Given the description of an element on the screen output the (x, y) to click on. 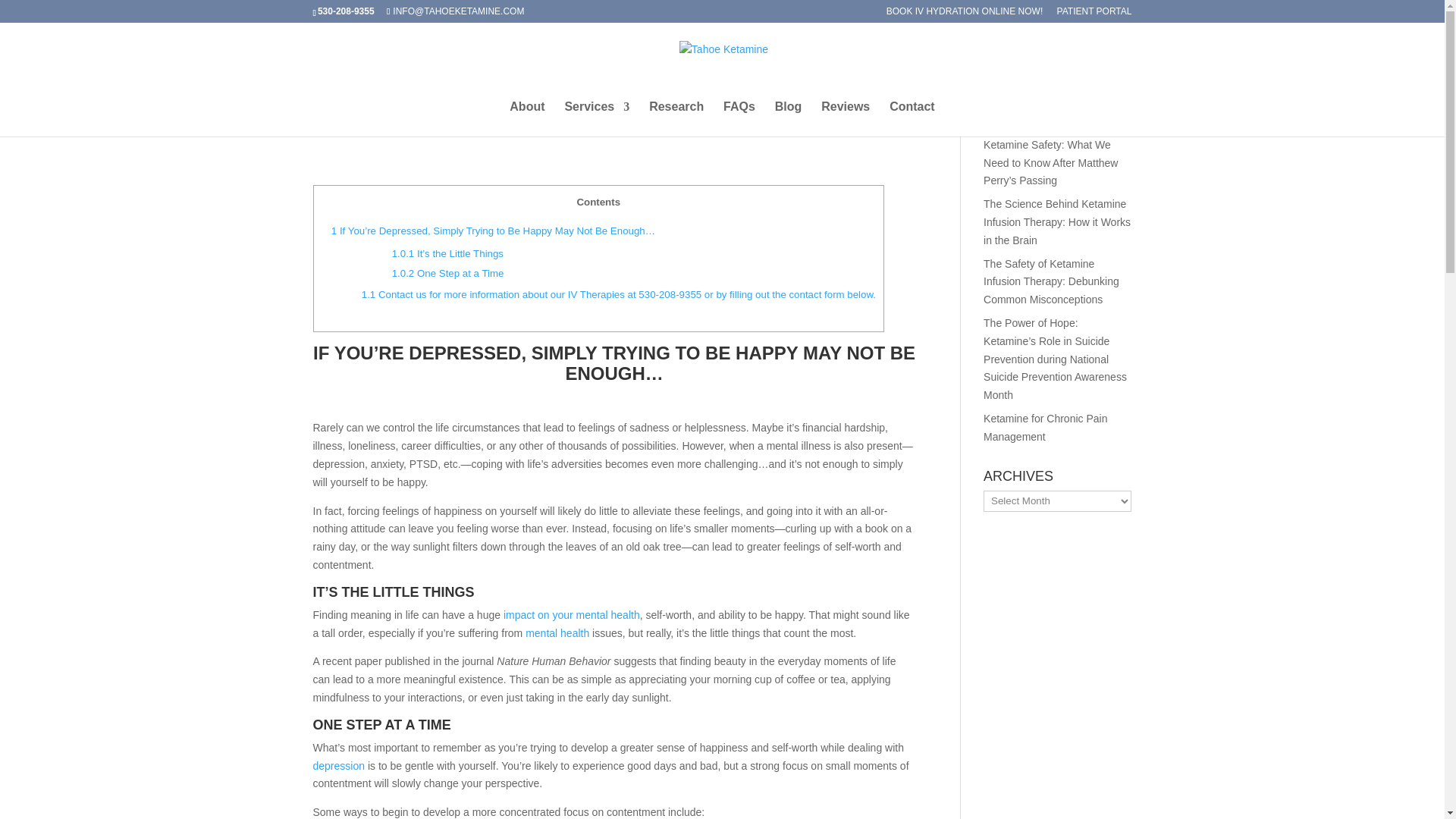
Posts by Tahoe Ketamine (364, 105)
Ketamine infusion therapy (664, 105)
FAQs (739, 118)
Search (1106, 59)
Reviews (845, 118)
Ketamine for Depression (538, 105)
Search (1106, 59)
mental health (557, 633)
About (526, 118)
